Given the description of an element on the screen output the (x, y) to click on. 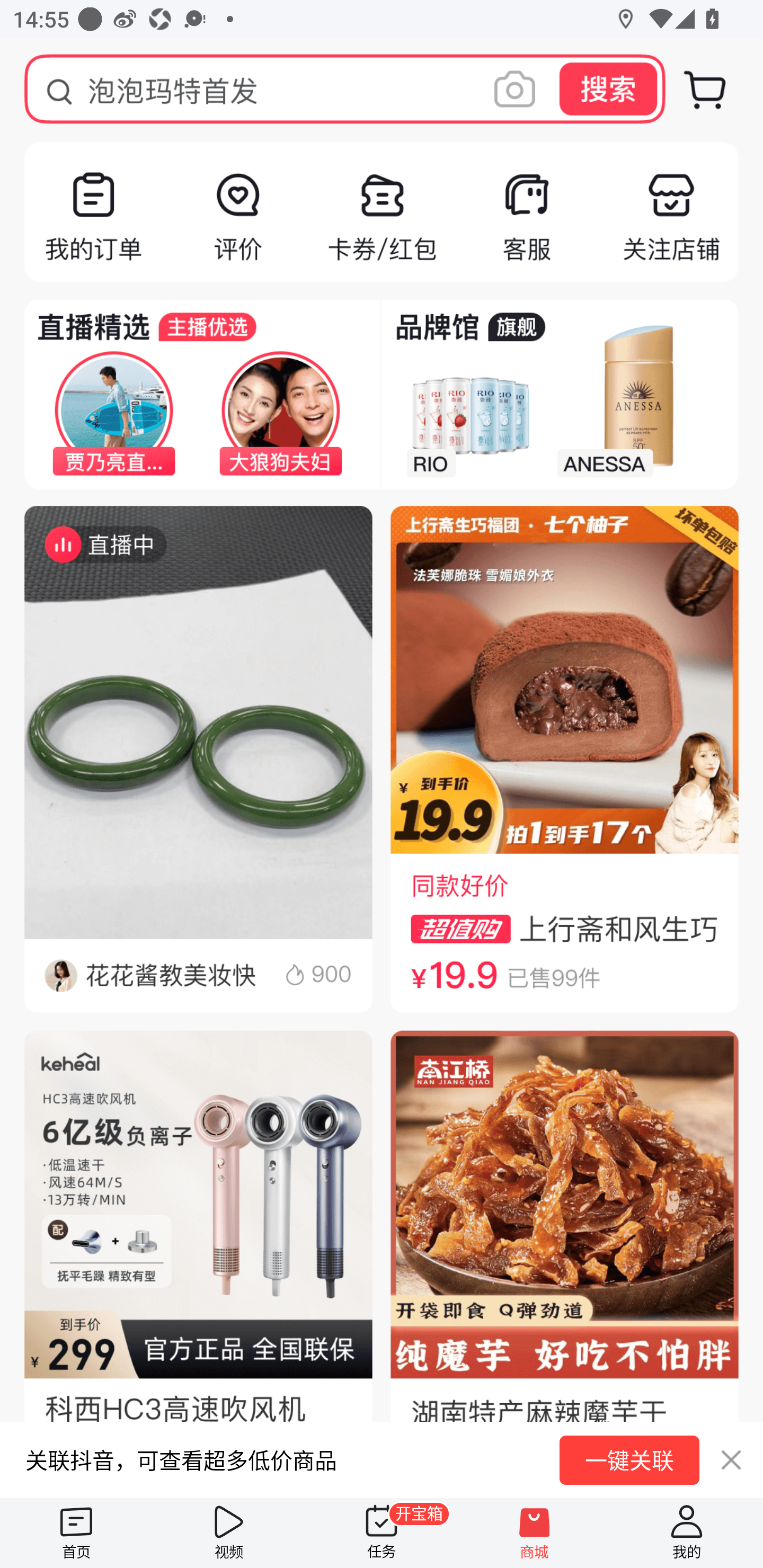
关联抖音，可查看超多低价商品 一键关联 (381, 1459)
一键关联 (629, 1460)
首页 (76, 1532)
视频 (228, 1532)
任务 开宝箱 (381, 1532)
商城 (533, 1532)
我的 (686, 1532)
